Given the description of an element on the screen output the (x, y) to click on. 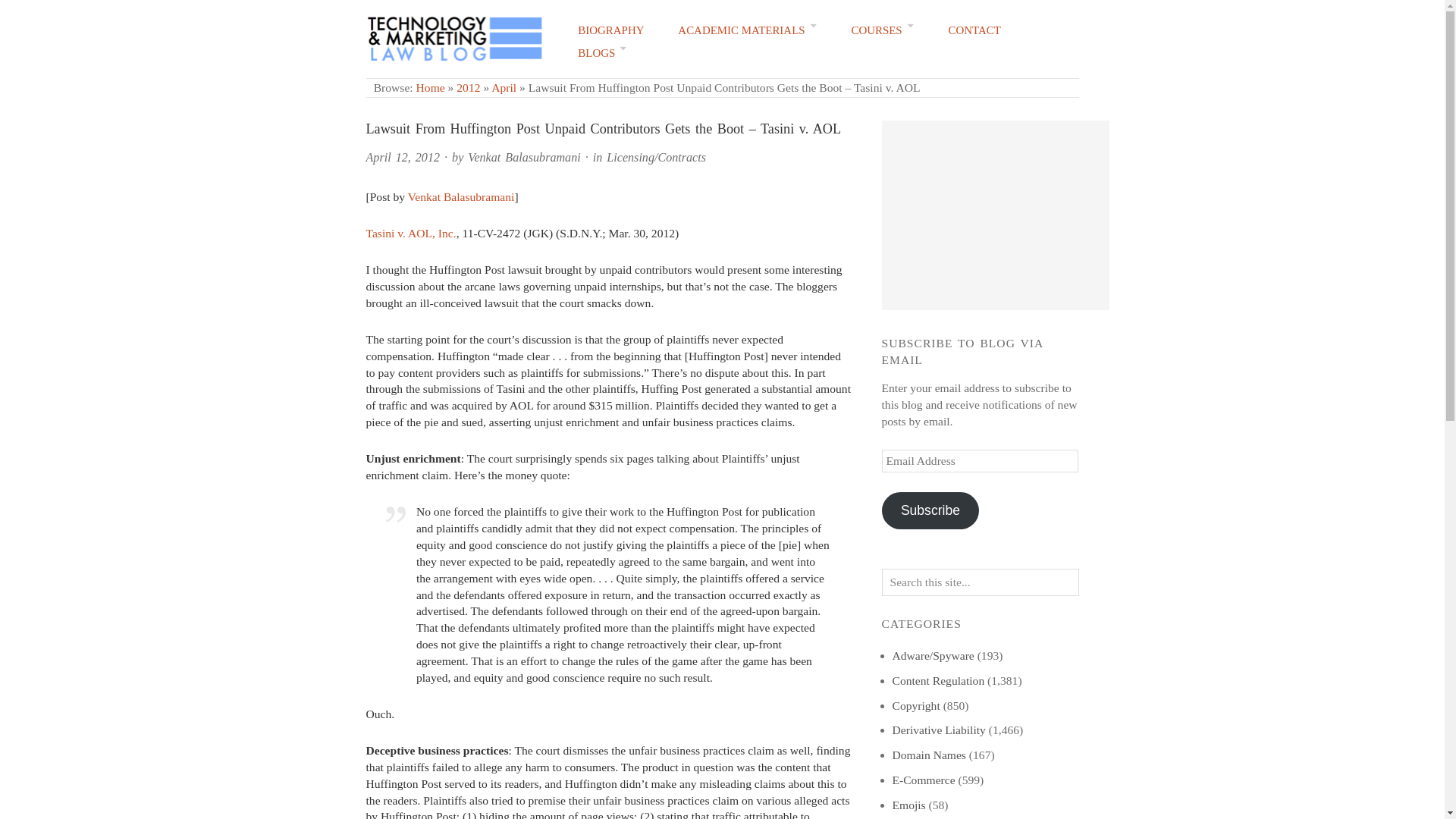
2012 (468, 87)
Venkat Balasubramani (461, 196)
April 2012 (504, 87)
Venkat Balasubramani (523, 156)
BIOGRAPHY (610, 30)
Posts by Venkat Balasubramani (523, 156)
BLOGS (602, 53)
CONTACT (975, 30)
2012 (468, 87)
Search this site... (979, 582)
